Given the description of an element on the screen output the (x, y) to click on. 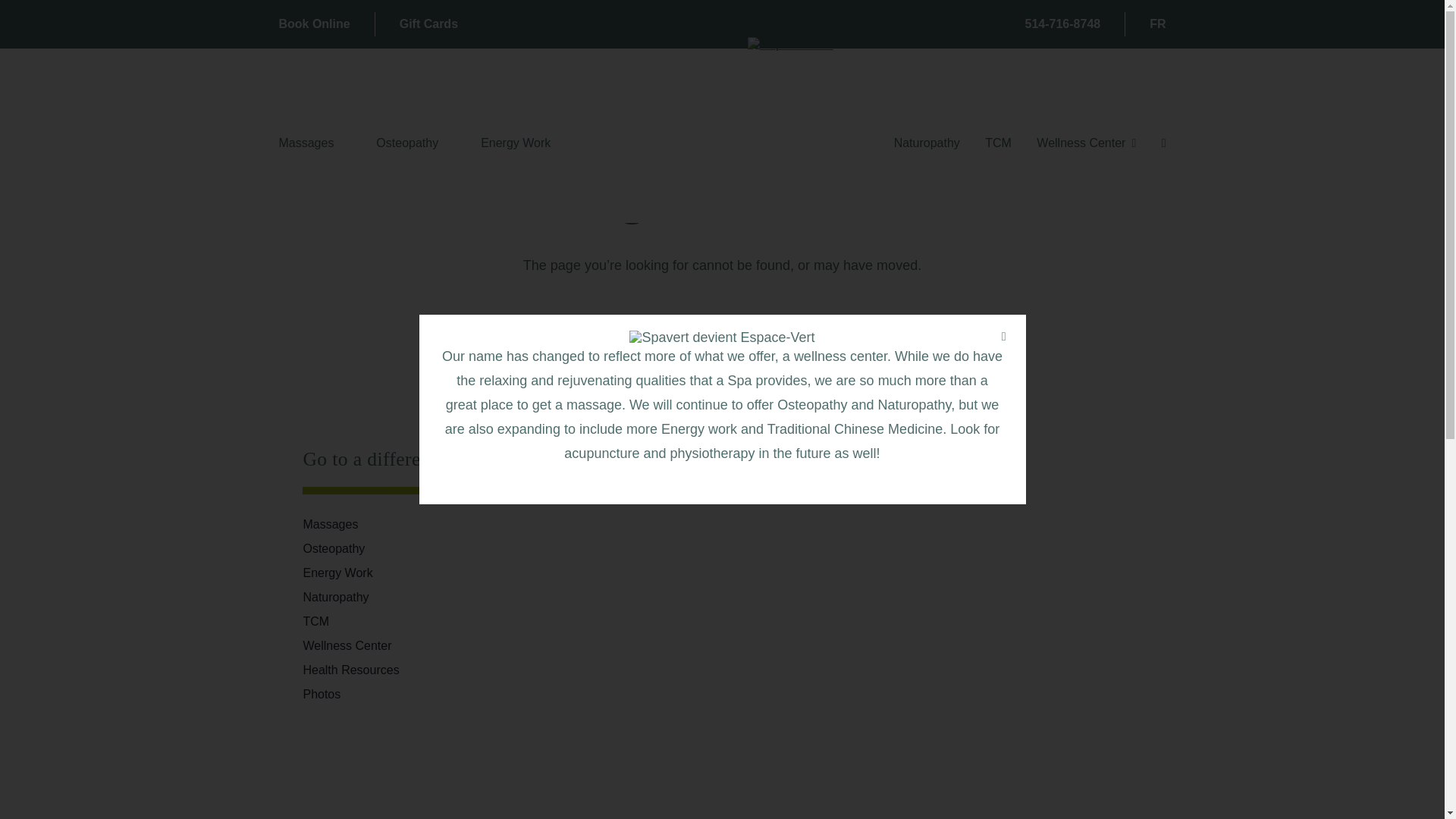
Wellness Center (1085, 143)
Book Online (313, 24)
Spavert-Espacevert (720, 336)
TCM (998, 143)
Energy Work (515, 143)
Massages (305, 143)
Gift Cards (428, 24)
Osteopathy (406, 143)
514-716-8748 (1062, 24)
